Given the description of an element on the screen output the (x, y) to click on. 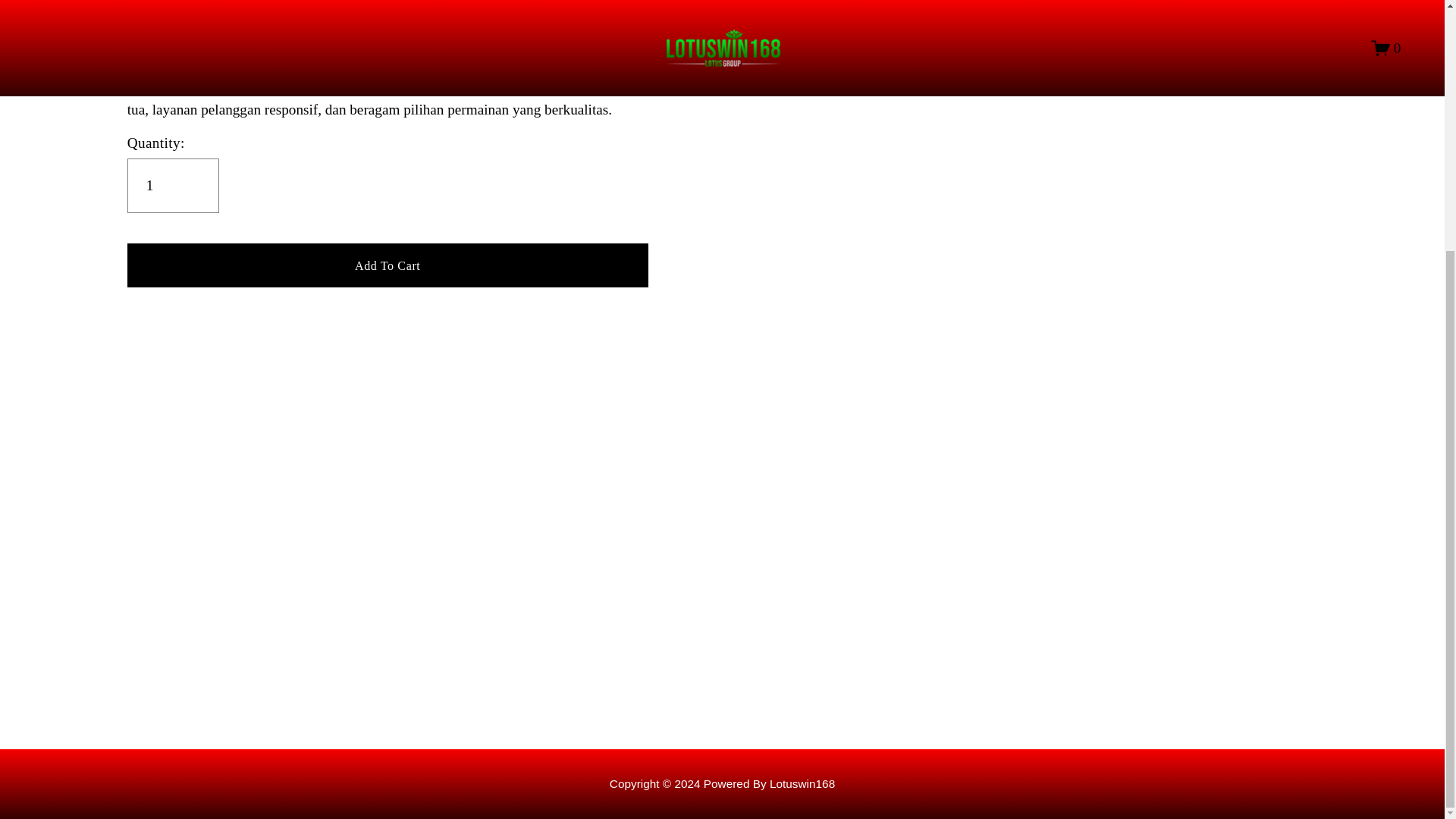
1 (173, 185)
Add To Cart (387, 264)
LOTUSWIN168 (176, 85)
Lotuswin168 (802, 783)
lotuswin168 (802, 783)
